Given the description of an element on the screen output the (x, y) to click on. 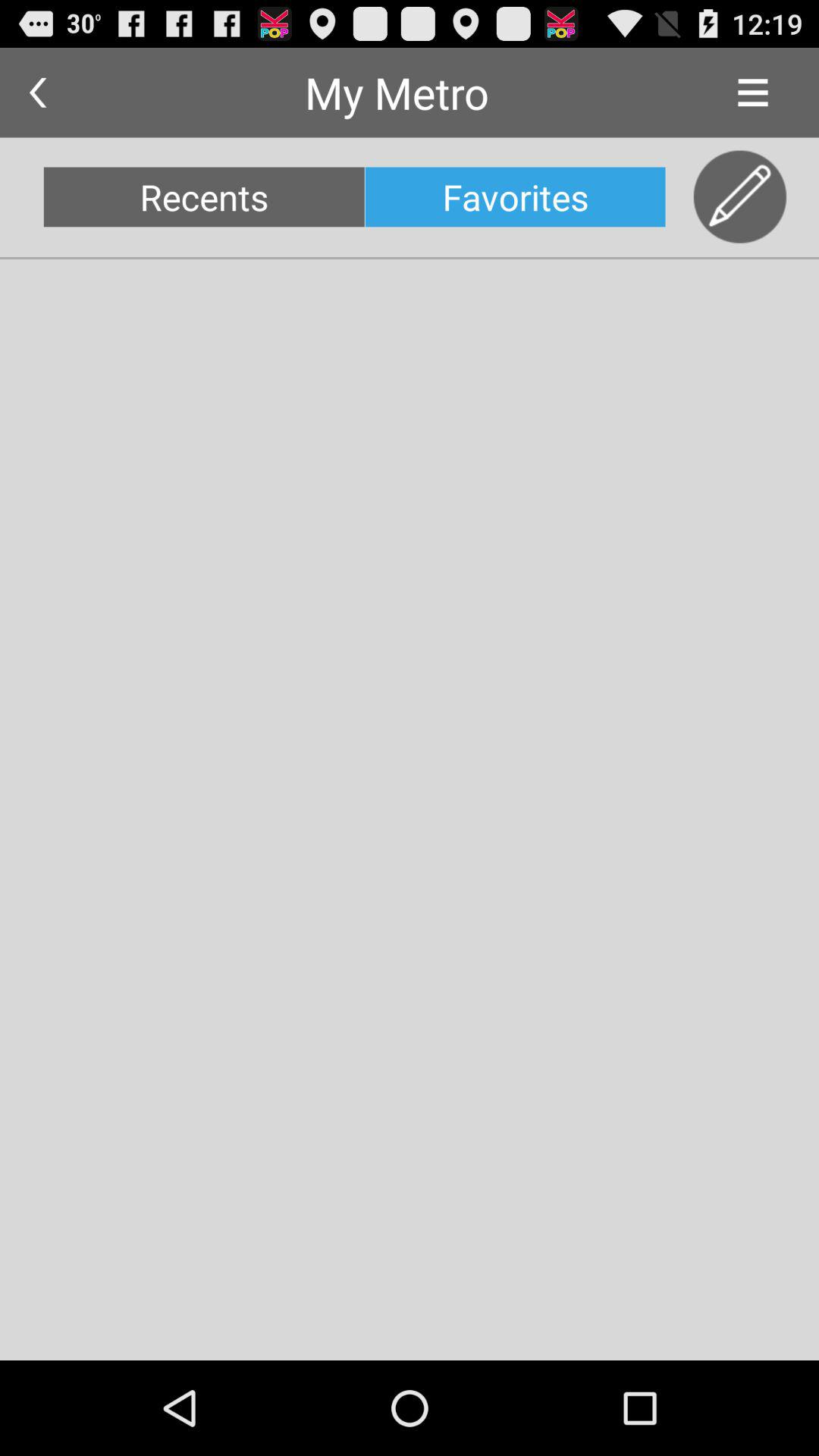
choose the app next to my metro app (37, 92)
